Given the description of an element on the screen output the (x, y) to click on. 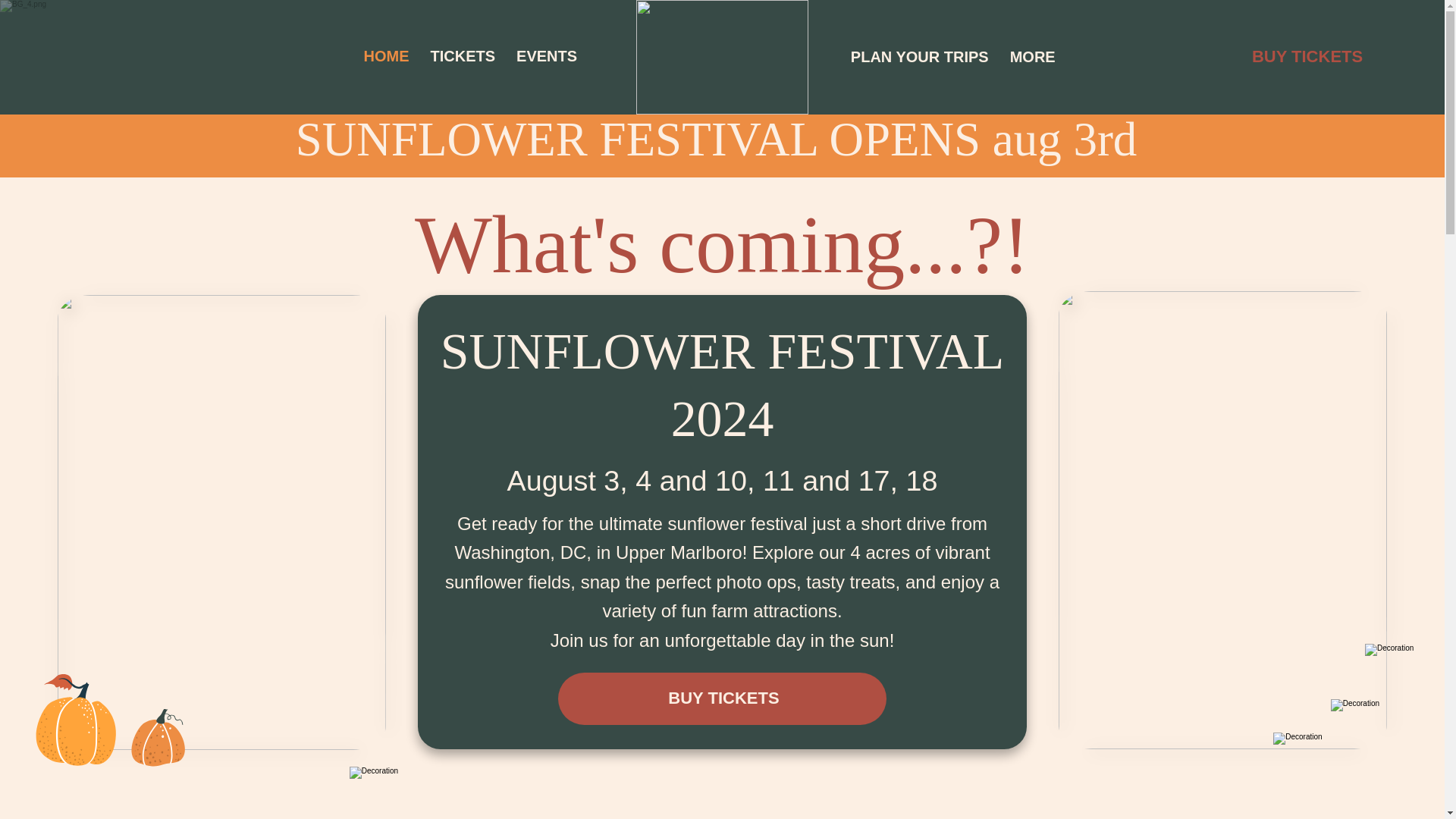
BUY TICKETS (1305, 57)
BUY TICKETS (721, 698)
TICKETS (462, 56)
HOME (313, 56)
